Given the description of an element on the screen output the (x, y) to click on. 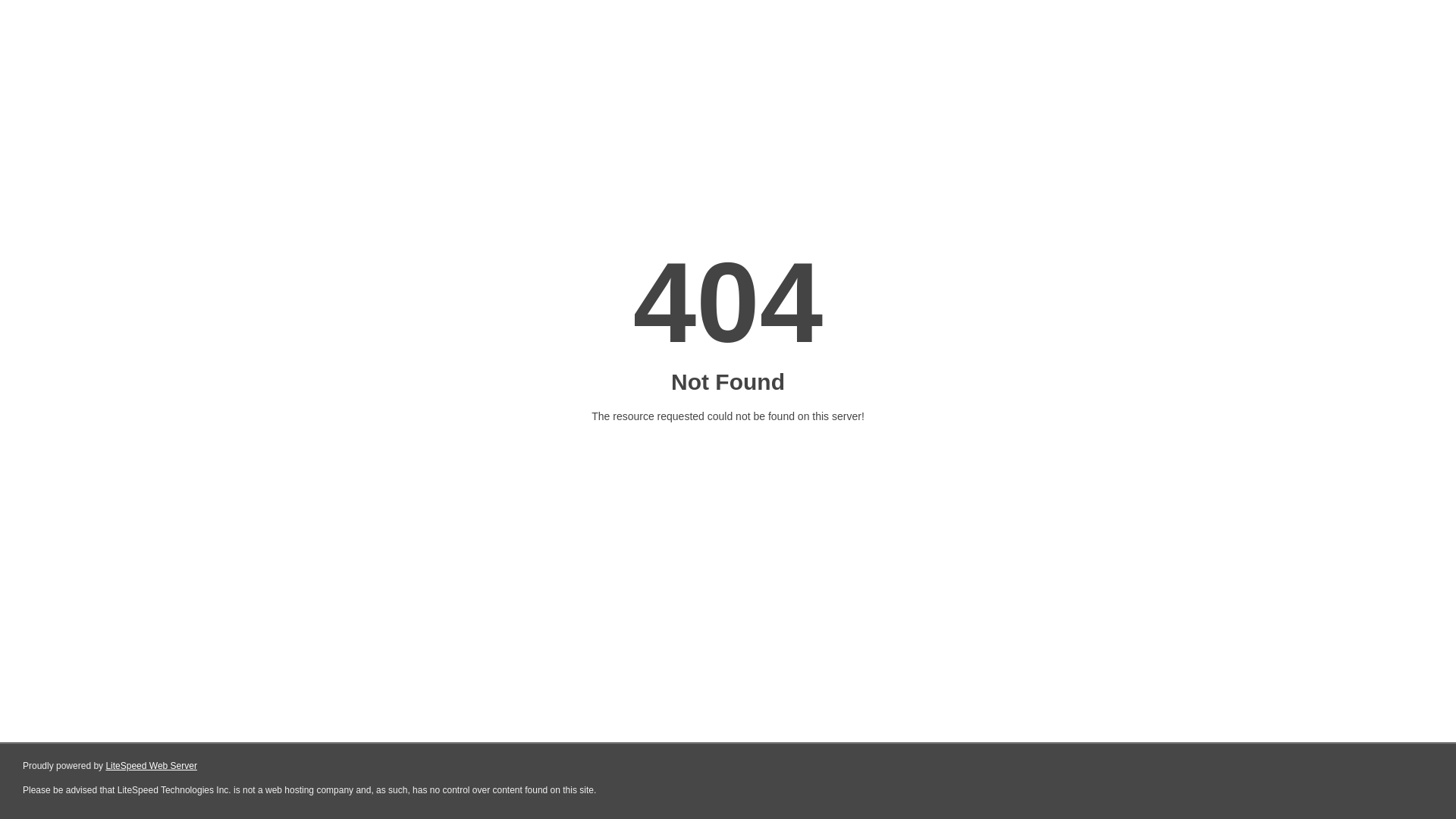
LiteSpeed Web Server Element type: text (151, 765)
